Given the description of an element on the screen output the (x, y) to click on. 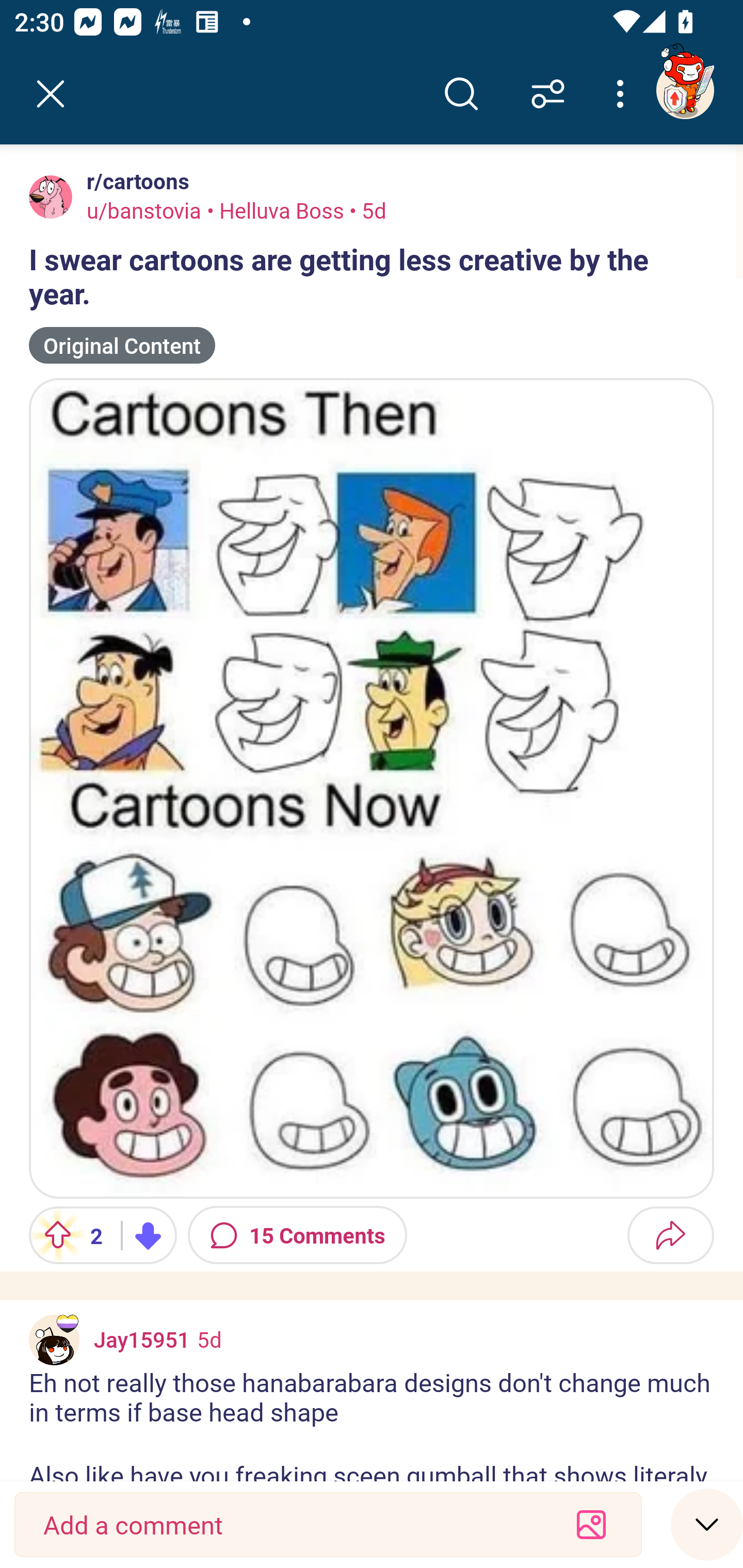
Back (50, 93)
TestAppium002 account (685, 90)
Search comments (460, 93)
Sort comments (547, 93)
More options (623, 93)
r/cartoons (134, 181)
Avatar (50, 196)
u/banstovia (144, 210)
Original Content (121, 345)
Image (371, 787)
Upvote 2 (67, 1234)
15 Comments (297, 1234)
Share (670, 1234)
Custom avatar (53, 1339)
5d (209, 1338)
Speed read (706, 1524)
Add a comment (291, 1524)
Add an image (590, 1524)
